Given the description of an element on the screen output the (x, y) to click on. 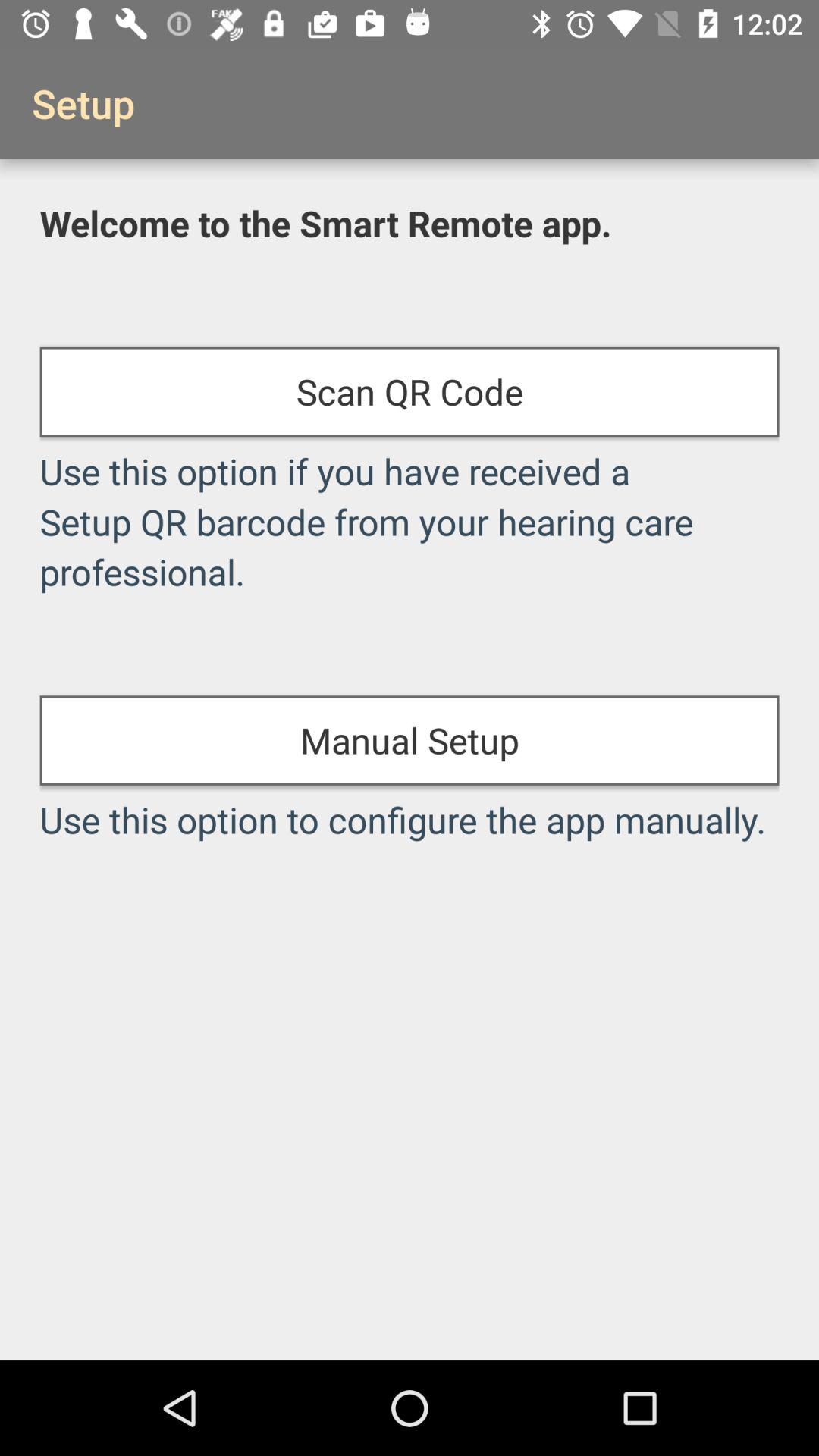
swipe to the scan qr code (409, 391)
